Given the description of an element on the screen output the (x, y) to click on. 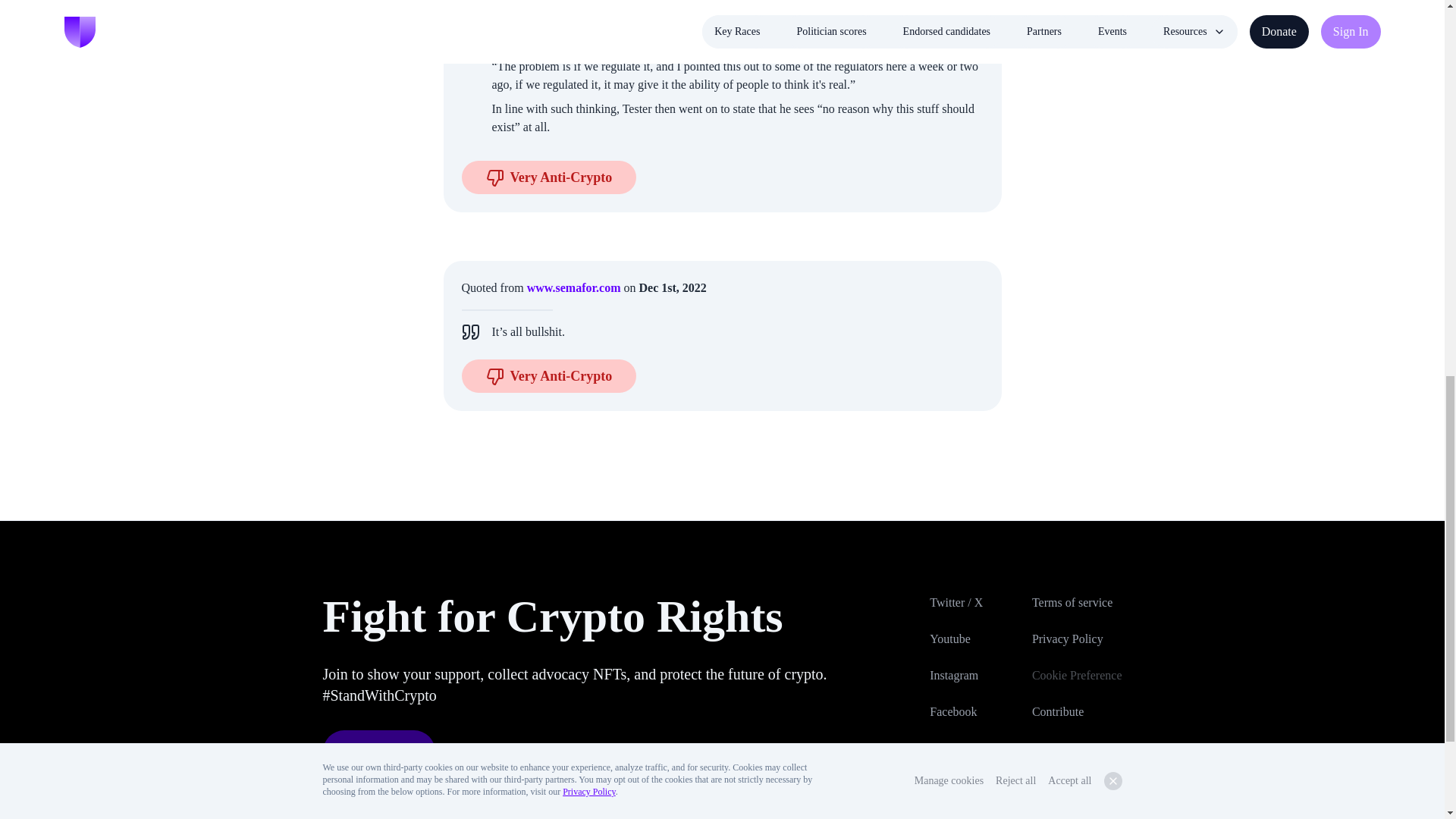
Instagram (975, 675)
Cookie Preference (1077, 675)
Questionnaire (1077, 748)
Discord (975, 784)
LinkedIn (975, 748)
Facebook (975, 711)
Community (1077, 784)
Join the fight (379, 751)
Youtube (975, 638)
www.semafor.com (574, 287)
